Given the description of an element on the screen output the (x, y) to click on. 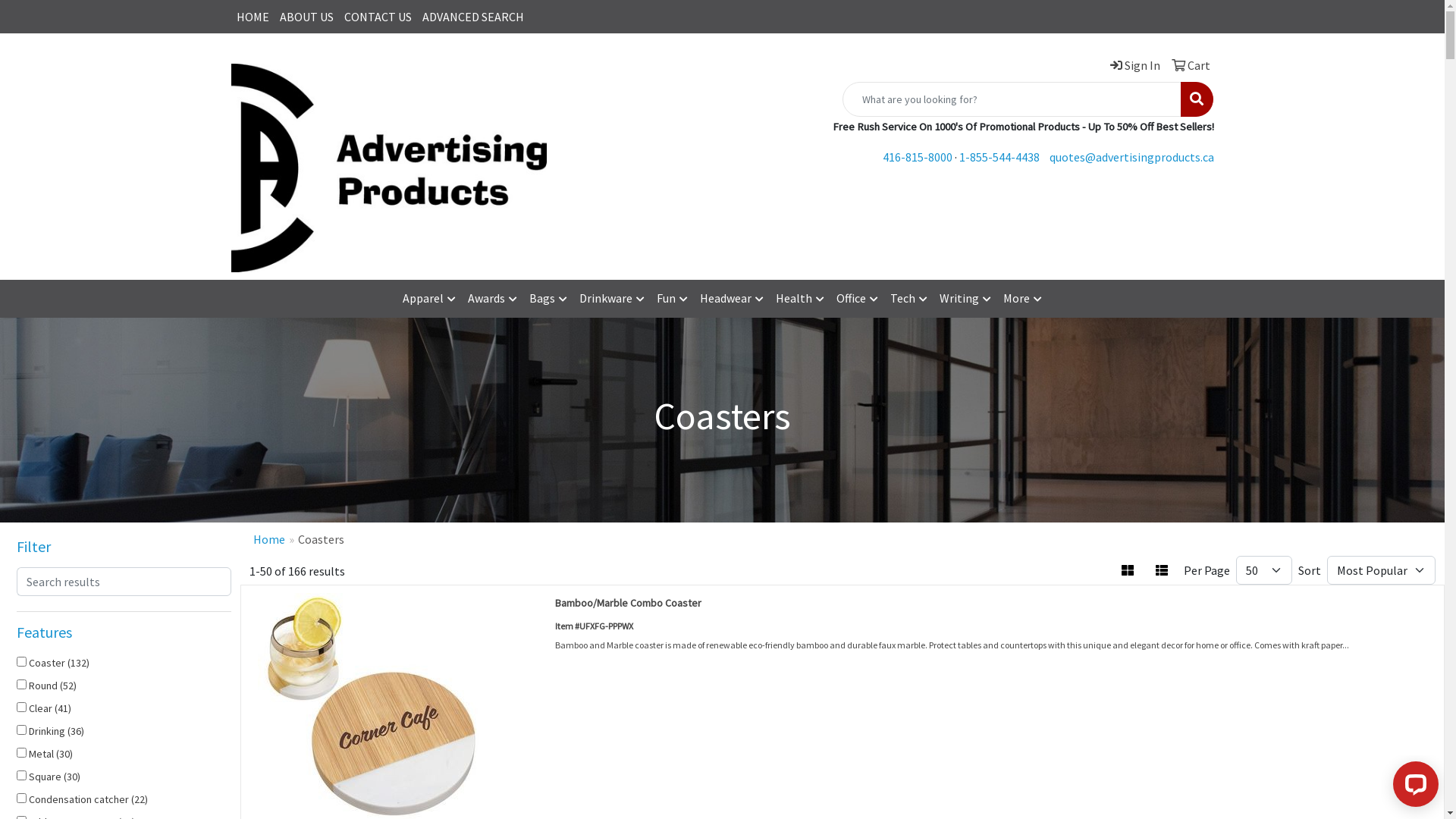
More Element type: text (1022, 298)
1-855-544-4438 Element type: text (998, 156)
Drinkware Element type: text (611, 298)
Health Element type: text (799, 298)
Cart Element type: text (1188, 64)
Office Element type: text (857, 298)
Fun Element type: text (671, 298)
Writing Element type: text (965, 298)
CONTACT US Element type: text (377, 16)
quotes@advertisingproducts.ca Element type: text (1131, 156)
HOME Element type: text (251, 16)
Bags Element type: text (548, 298)
ABOUT US Element type: text (306, 16)
Apparel Element type: text (428, 298)
Sign In Element type: text (1131, 64)
416-815-8000 Element type: text (917, 156)
Tech Element type: text (908, 298)
ADVANCED SEARCH Element type: text (473, 16)
Headwear Element type: text (731, 298)
Awards Element type: text (492, 298)
